Given the description of an element on the screen output the (x, y) to click on. 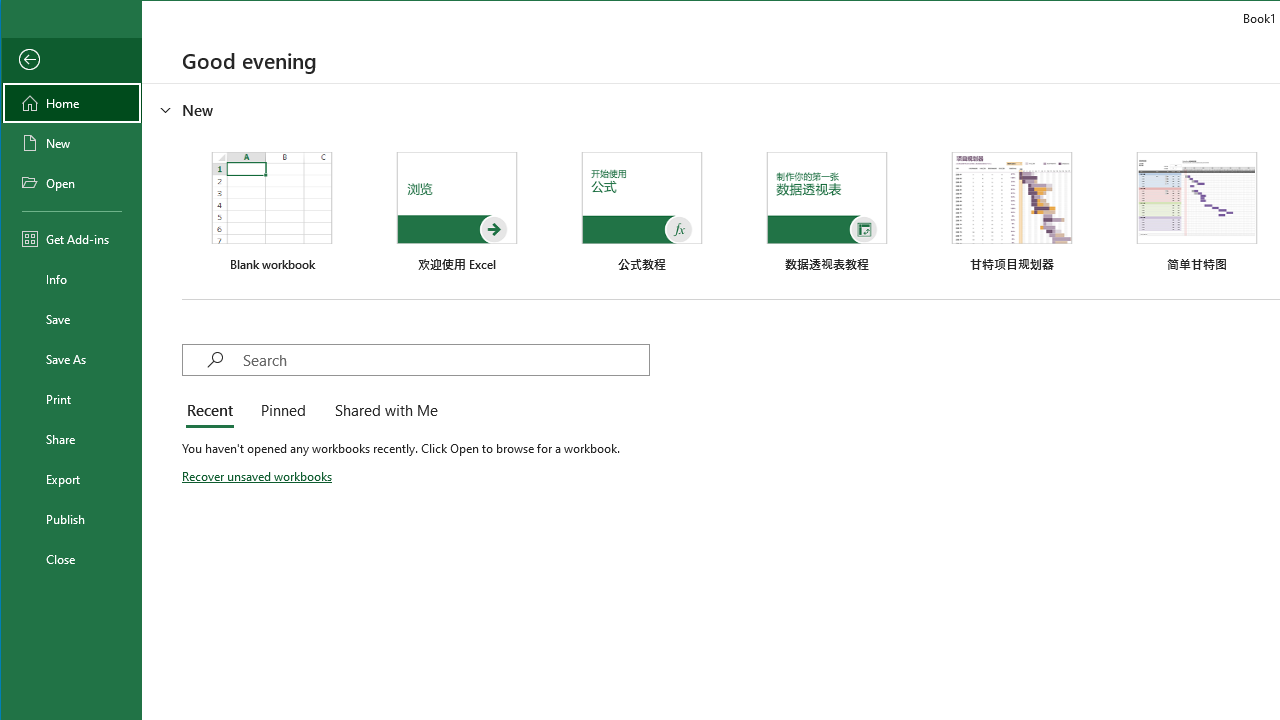
Blank workbook (271, 212)
Info (72, 278)
Save As (72, 358)
Hide or show region (165, 109)
Back (72, 60)
Pinned (282, 411)
Print (72, 398)
